Given the description of an element on the screen output the (x, y) to click on. 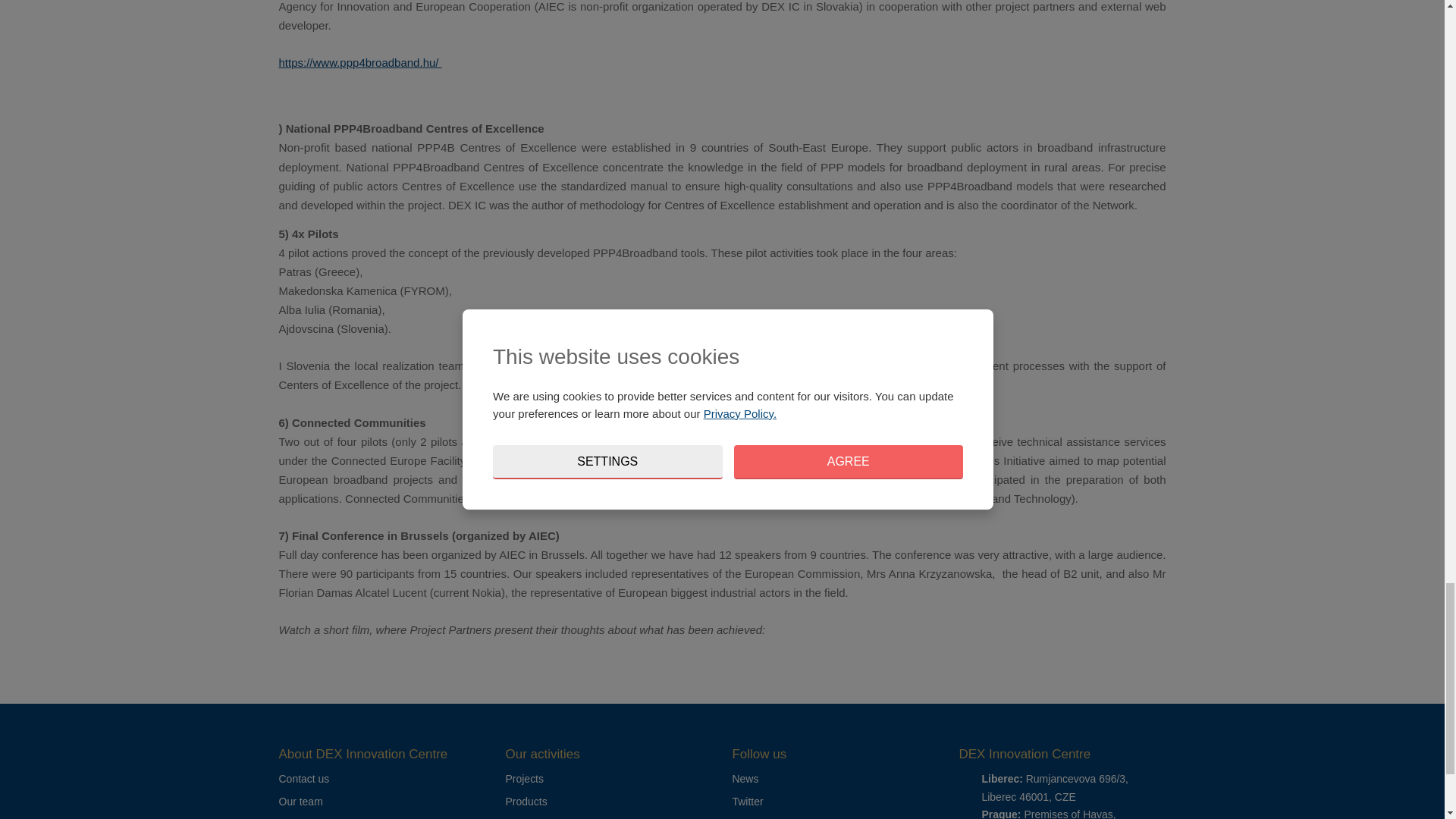
Projects (524, 778)
Our history (304, 818)
Our team (301, 801)
News (745, 778)
Contact us (304, 778)
Twitter (747, 801)
LinkedIn (751, 818)
EIT Health (529, 818)
Products (526, 801)
